Given the description of an element on the screen output the (x, y) to click on. 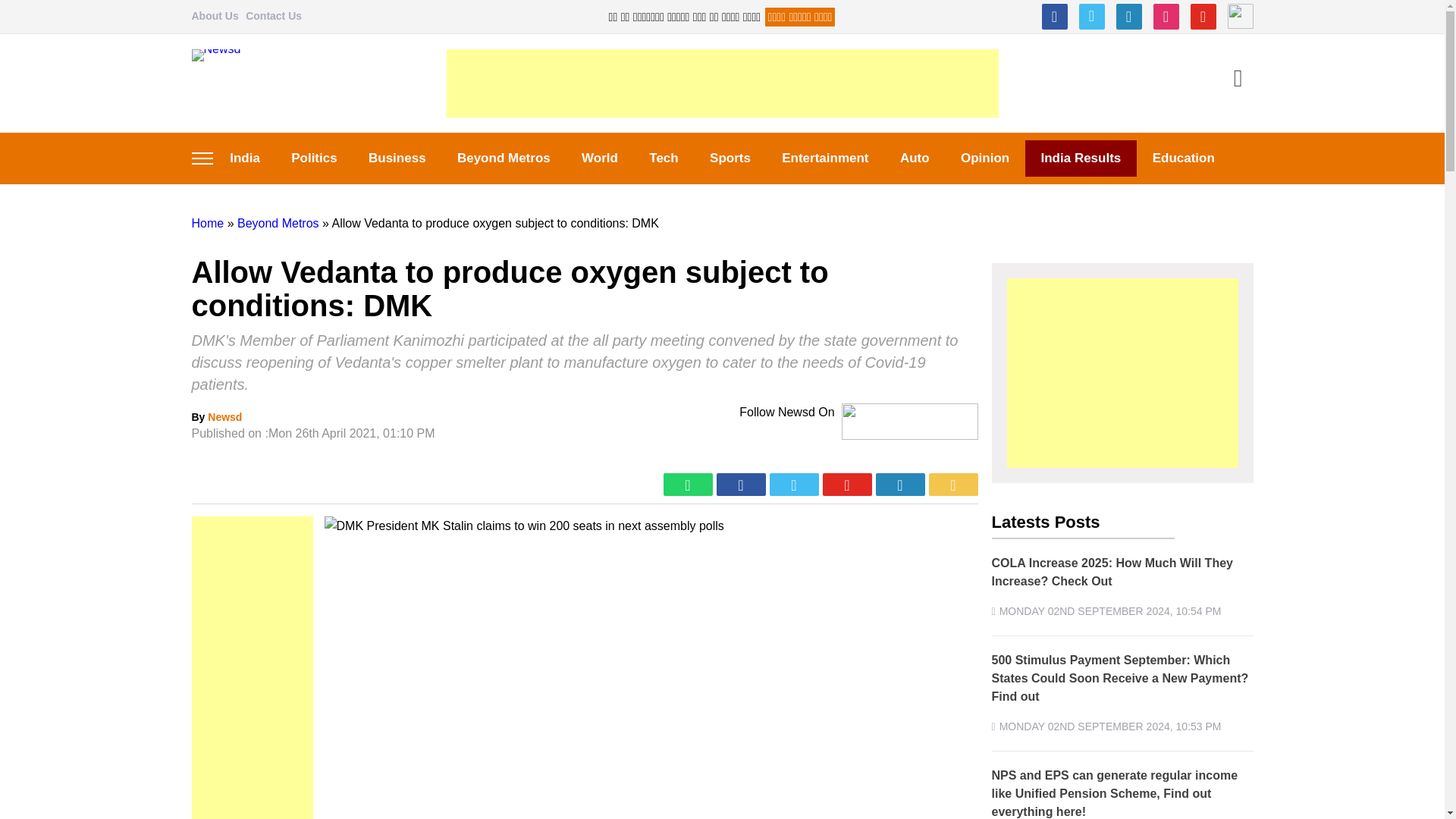
Beyond Metros (503, 158)
Beyond Metros (277, 223)
About Us (214, 15)
Sports (729, 158)
Home (207, 223)
Business (396, 158)
Entertainment (826, 158)
Facebook (1054, 16)
Tech (663, 158)
Tech (663, 158)
